Given the description of an element on the screen output the (x, y) to click on. 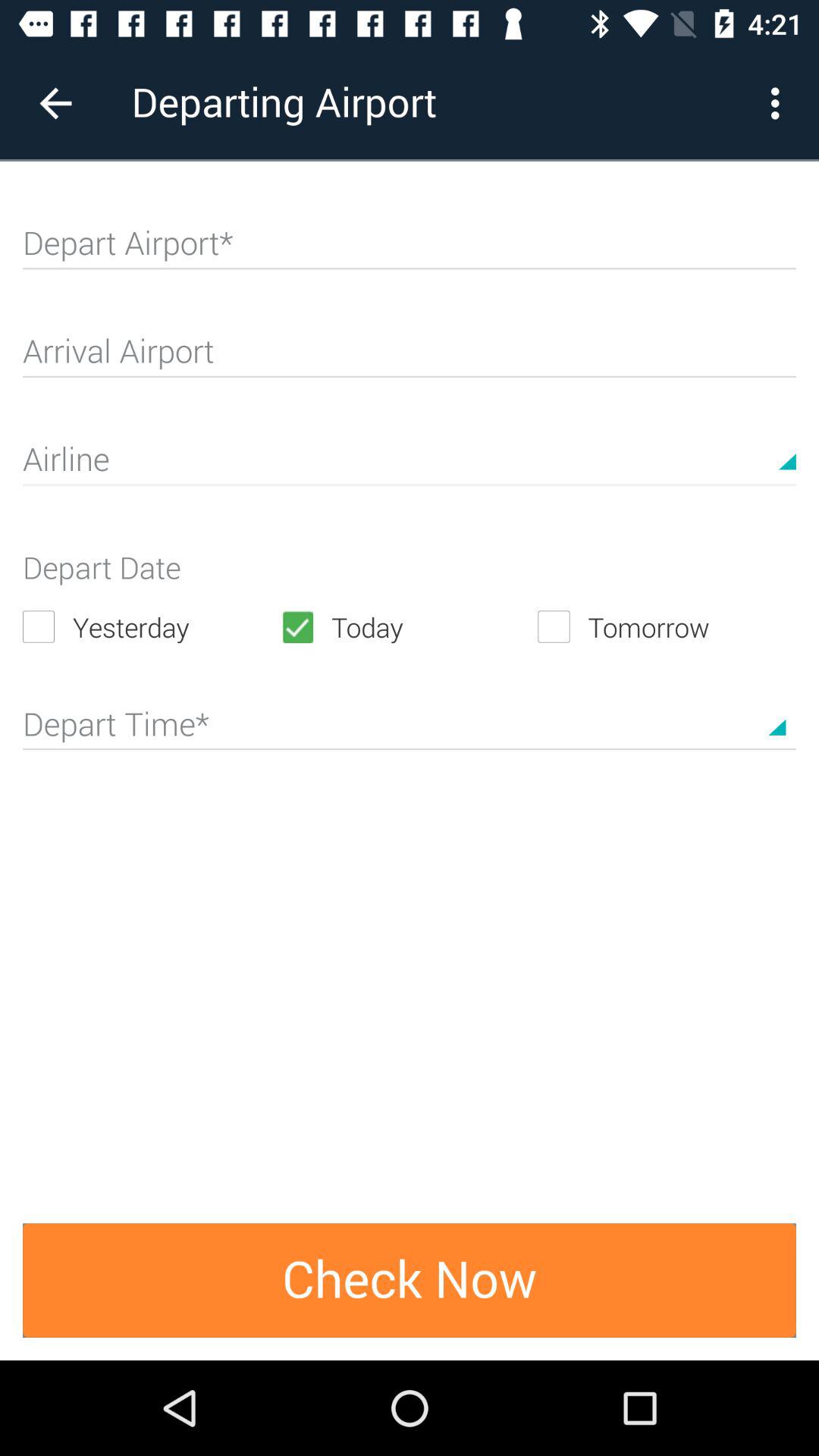
turn on the item next to the departing airport icon (55, 103)
